Given the description of an element on the screen output the (x, y) to click on. 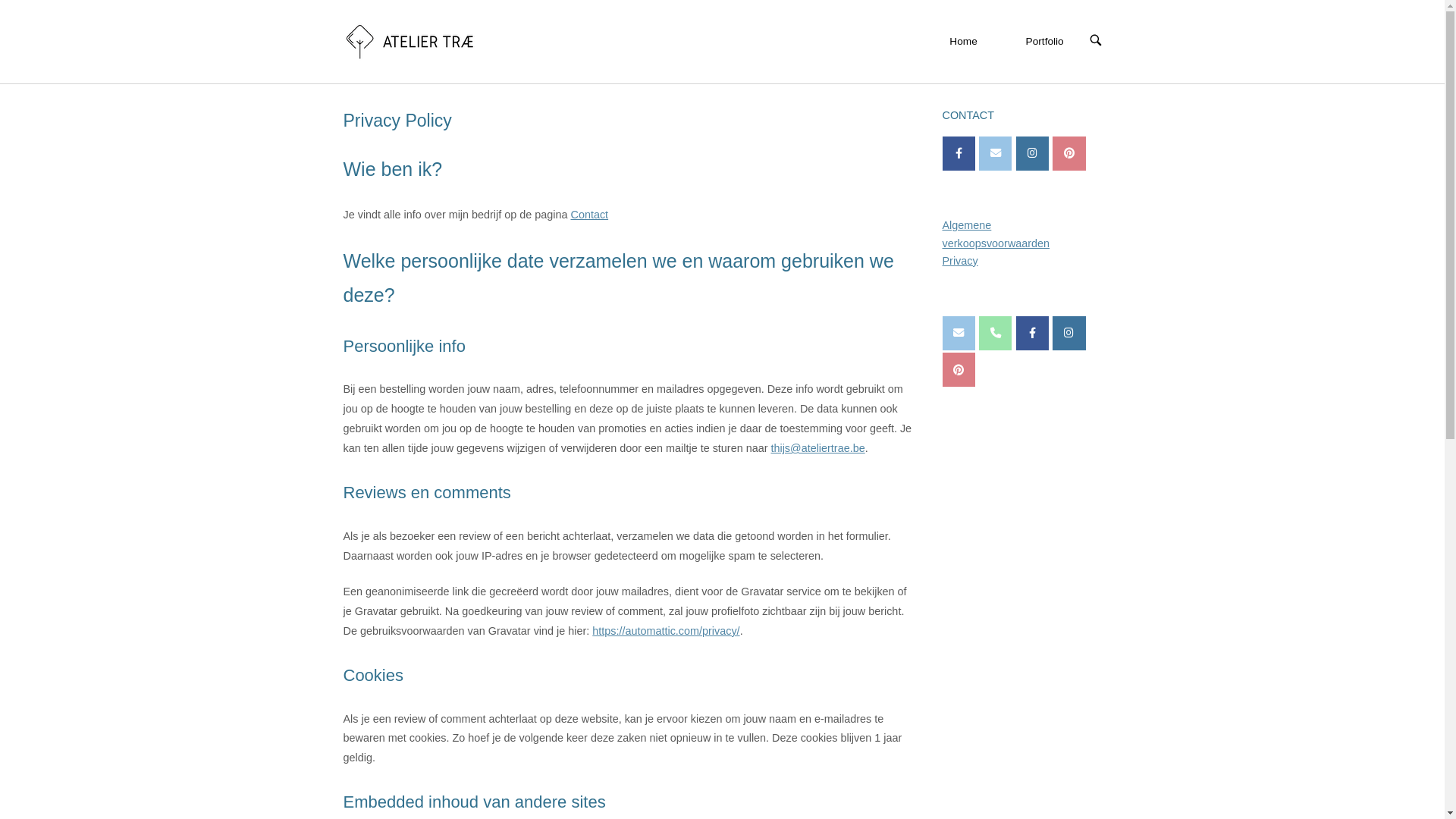
E-mail Element type: hover (995, 153)
thijs@ateliertrae.be Element type: text (817, 448)
Atelier Trae Element type: hover (1032, 333)
Privacy Element type: text (959, 260)
Algemene verkoopsvoorwaarden Element type: text (995, 233)
Instagram Element type: hover (1032, 153)
OPEN DE ZOEKBALK Element type: text (1094, 40)
Home Element type: text (409, 40)
Contact Element type: text (589, 214)
Atelier Trae Element type: hover (1068, 333)
Portfolio Element type: text (1044, 41)
Home Element type: text (962, 41)
Facebook Element type: hover (957, 153)
https://automattic.com/privacy/ Element type: text (665, 630)
